Given the description of an element on the screen output the (x, y) to click on. 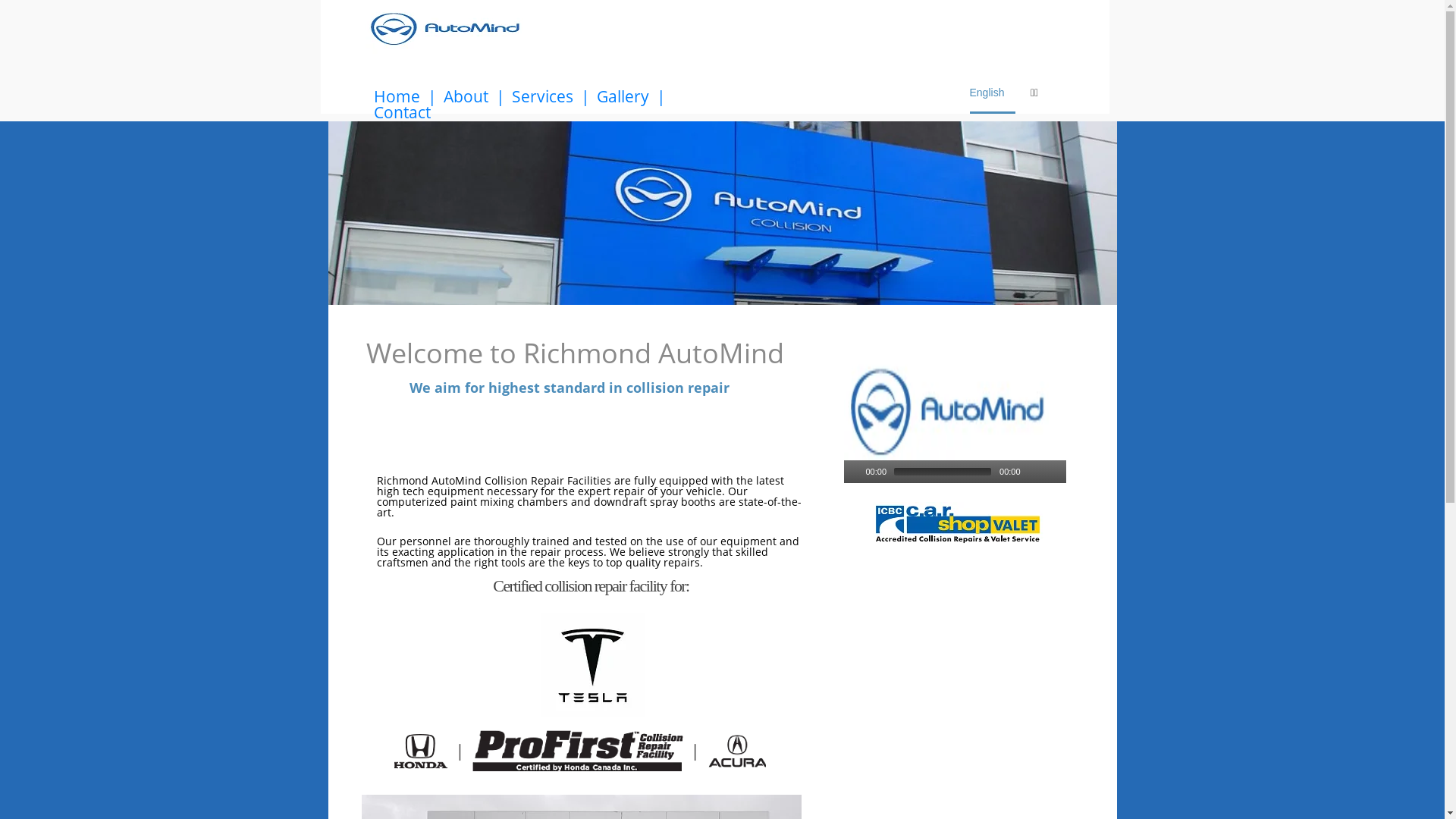
Mute Toggle Element type: hover (1034, 471)
Home Element type: text (396, 96)
Services Element type: text (541, 96)
Gallery Element type: text (622, 96)
Fullscreen Element type: hover (1054, 471)
About Element type: text (464, 96)
Contact Element type: text (401, 112)
Play/Pause Element type: hover (853, 471)
English Element type: text (992, 94)
